Given the description of an element on the screen output the (x, y) to click on. 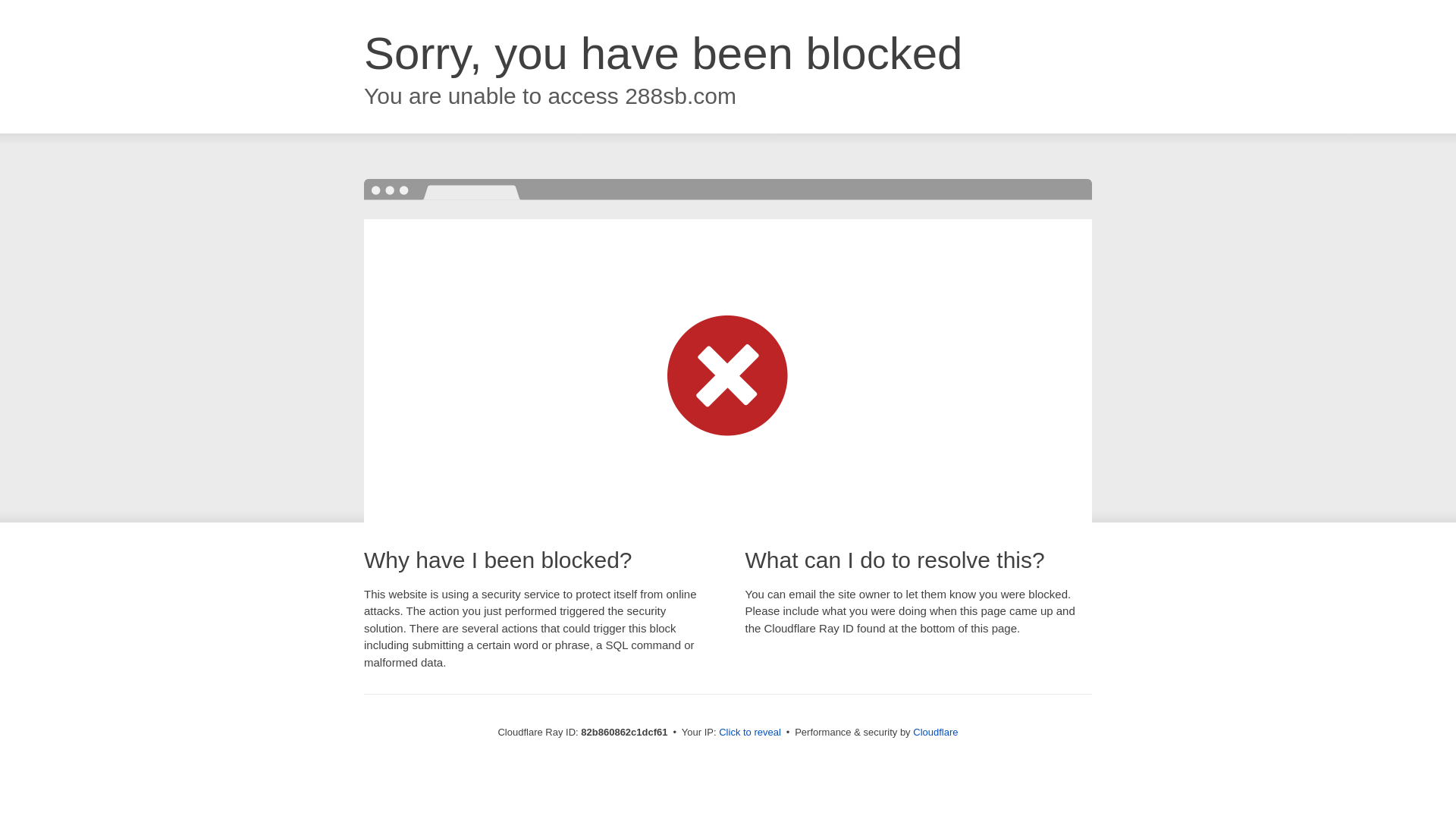
Click to reveal Element type: text (749, 732)
Cloudflare Element type: text (935, 731)
